Given the description of an element on the screen output the (x, y) to click on. 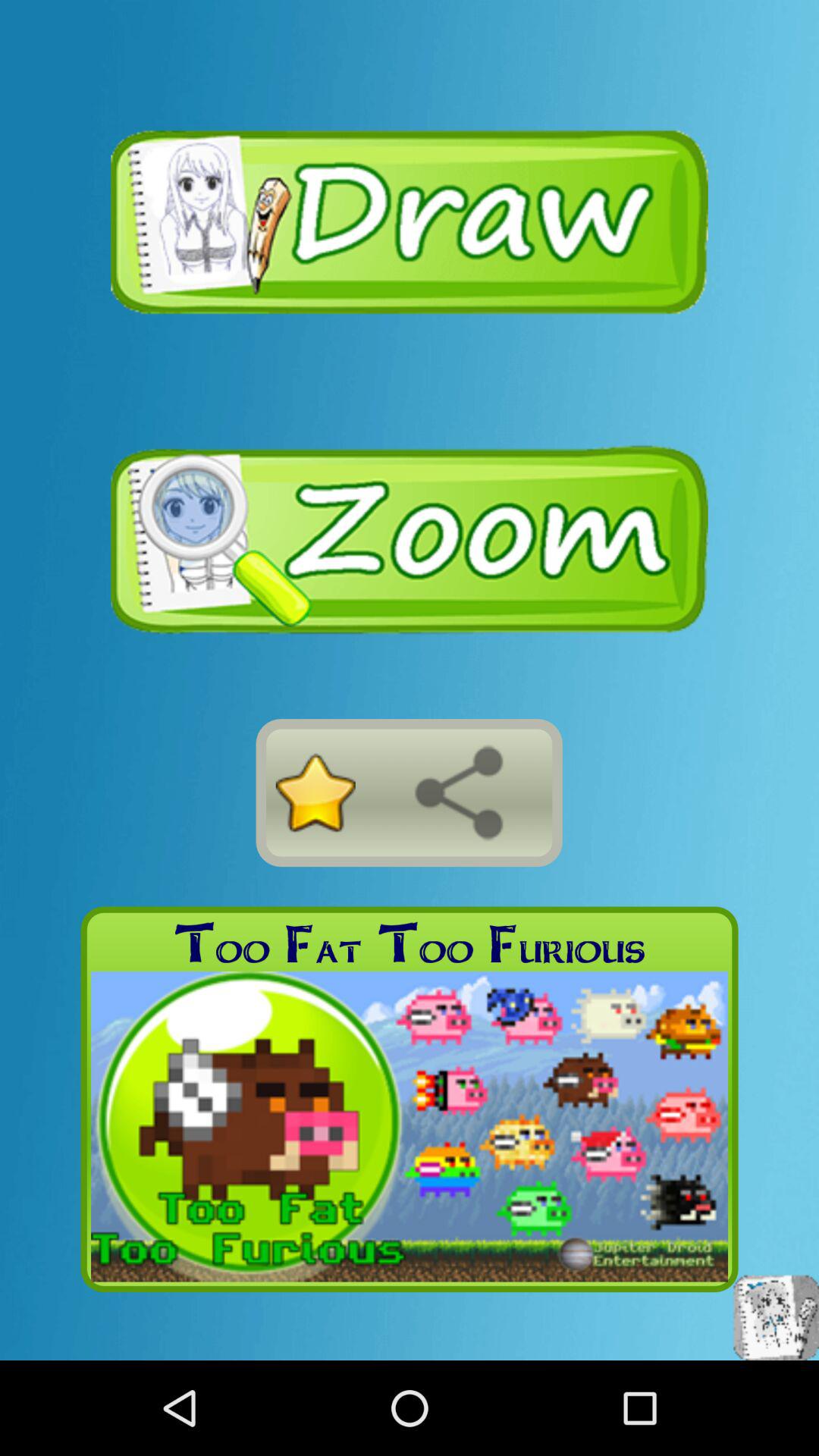
open the too fat too (409, 943)
